Given the description of an element on the screen output the (x, y) to click on. 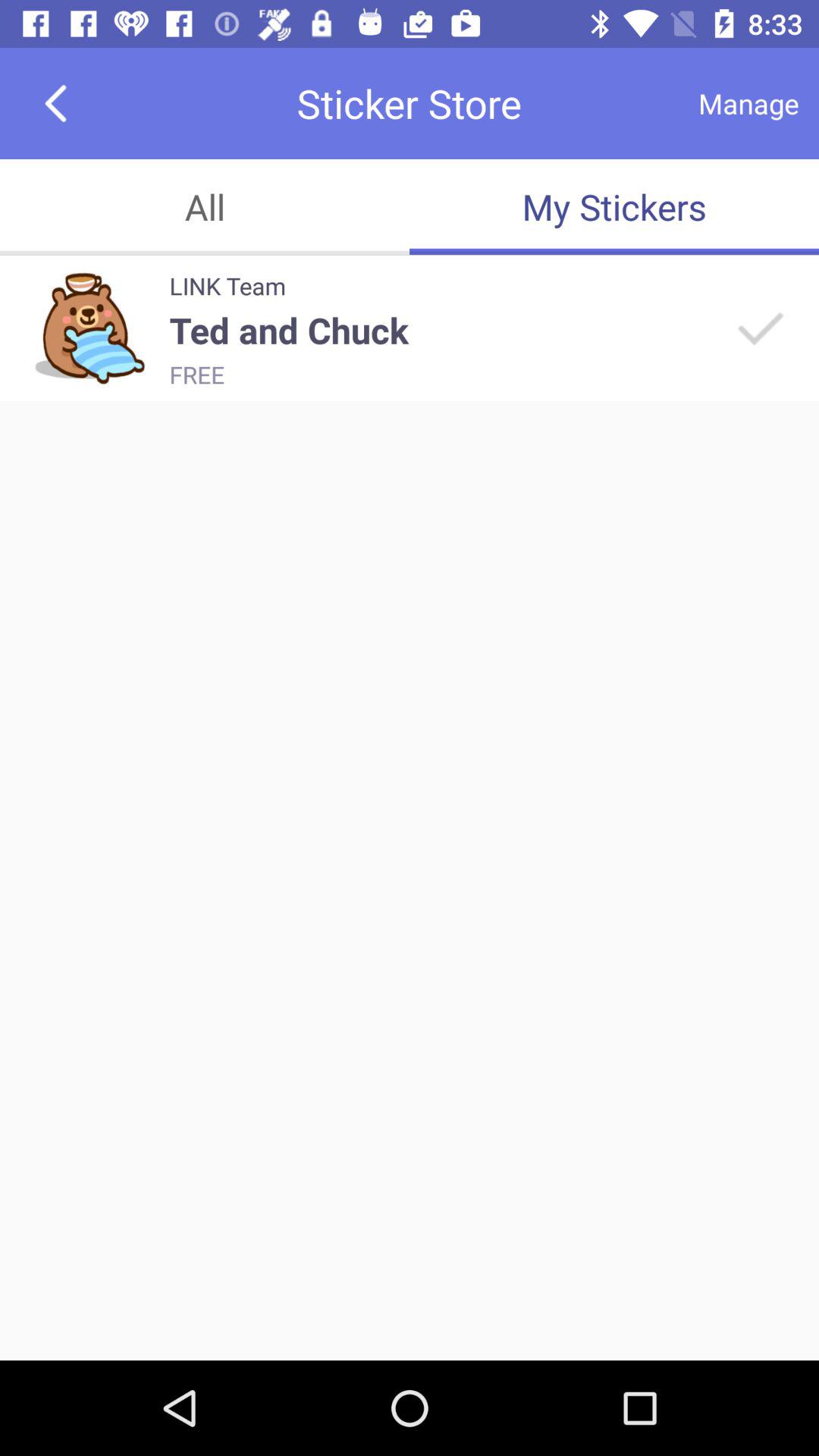
click the item to the left of the sticker store app (55, 103)
